Given the description of an element on the screen output the (x, y) to click on. 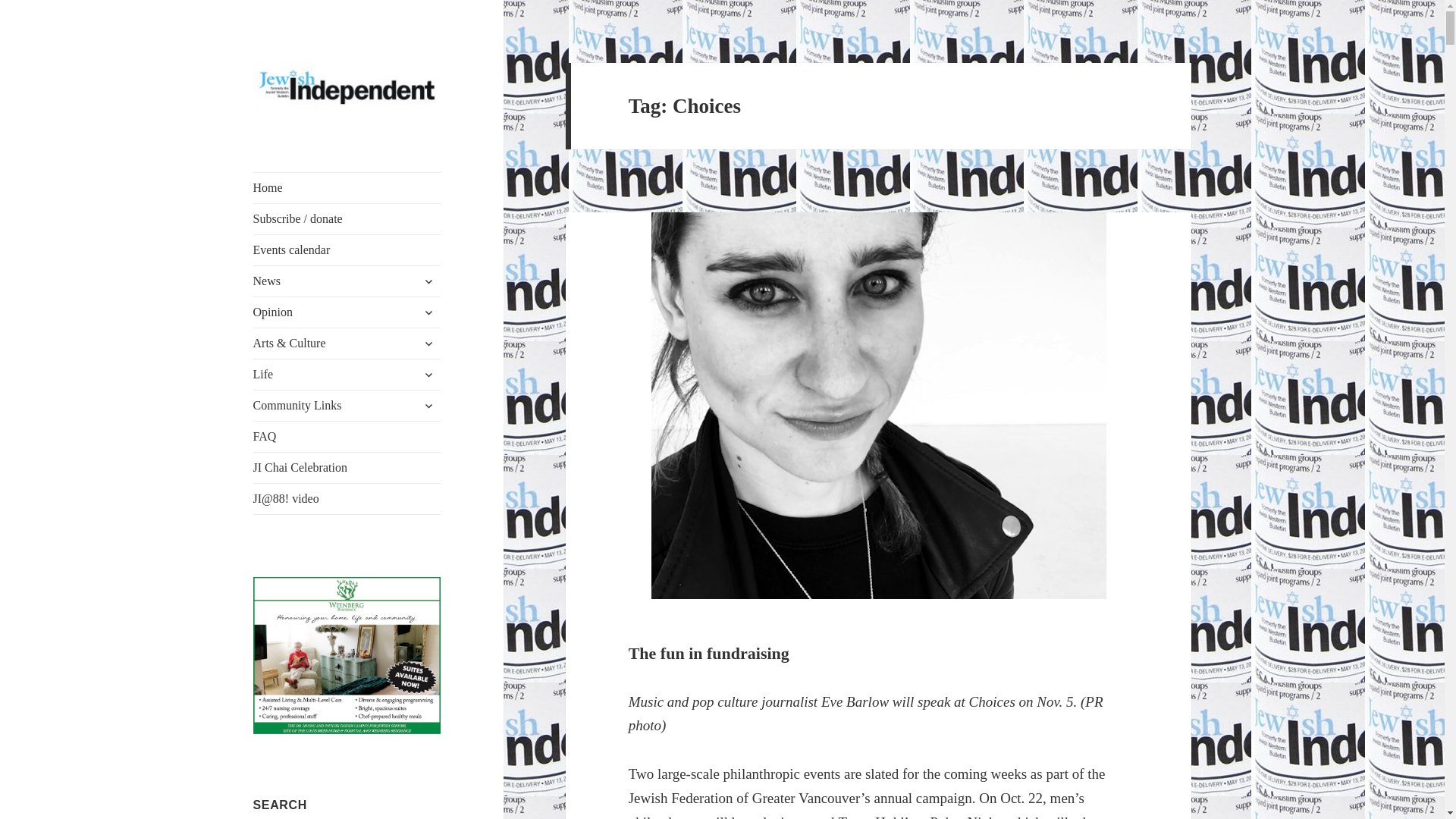
expand child menu (428, 281)
JI Chai Celebration (347, 467)
Events calendar (347, 250)
Community Links (347, 405)
expand child menu (428, 312)
News (347, 281)
FAQ (347, 436)
Life (347, 374)
expand child menu (428, 343)
expand child menu (428, 405)
Home (347, 187)
expand child menu (428, 374)
Opinion (347, 312)
